Given the description of an element on the screen output the (x, y) to click on. 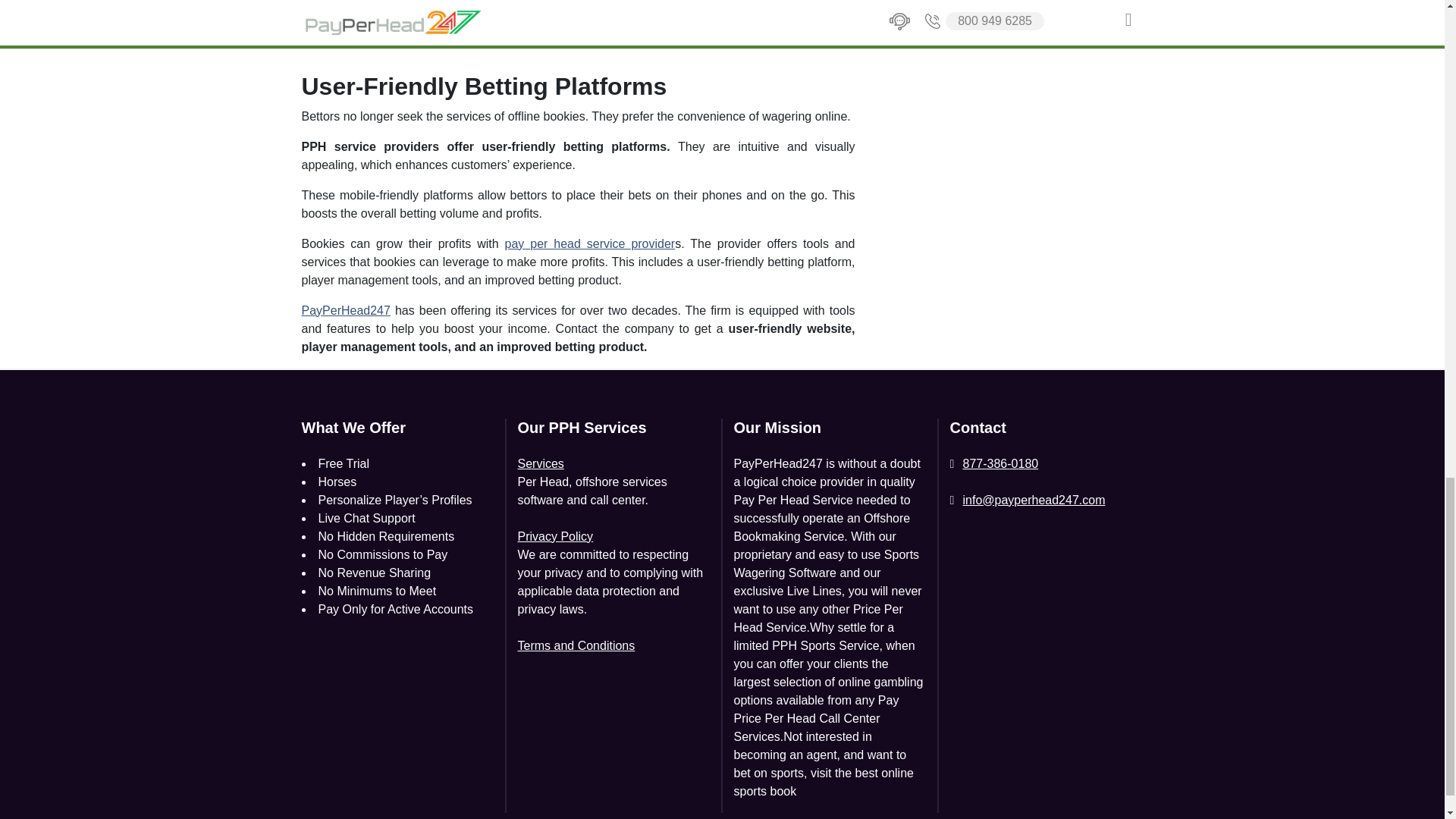
Services (539, 464)
PayPerHead247 (345, 309)
877-386-0180 (993, 464)
pay per head service provider (590, 243)
We are a Pay Per Head Sportsbook   PPH247 (491, 27)
Terms and Conditions (575, 646)
Privacy Policy (554, 536)
